Given the description of an element on the screen output the (x, y) to click on. 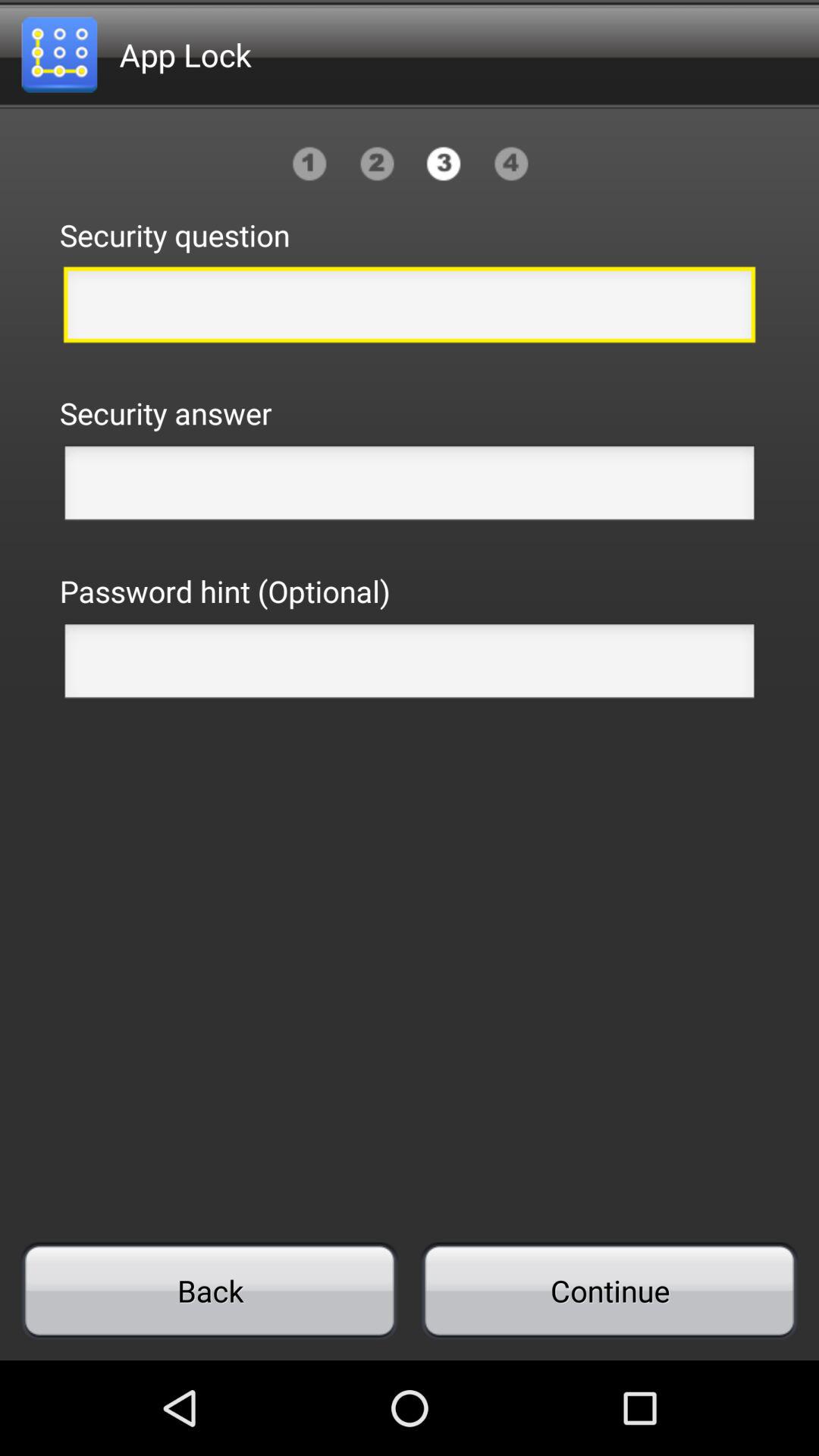
press continue item (609, 1290)
